Given the description of an element on the screen output the (x, y) to click on. 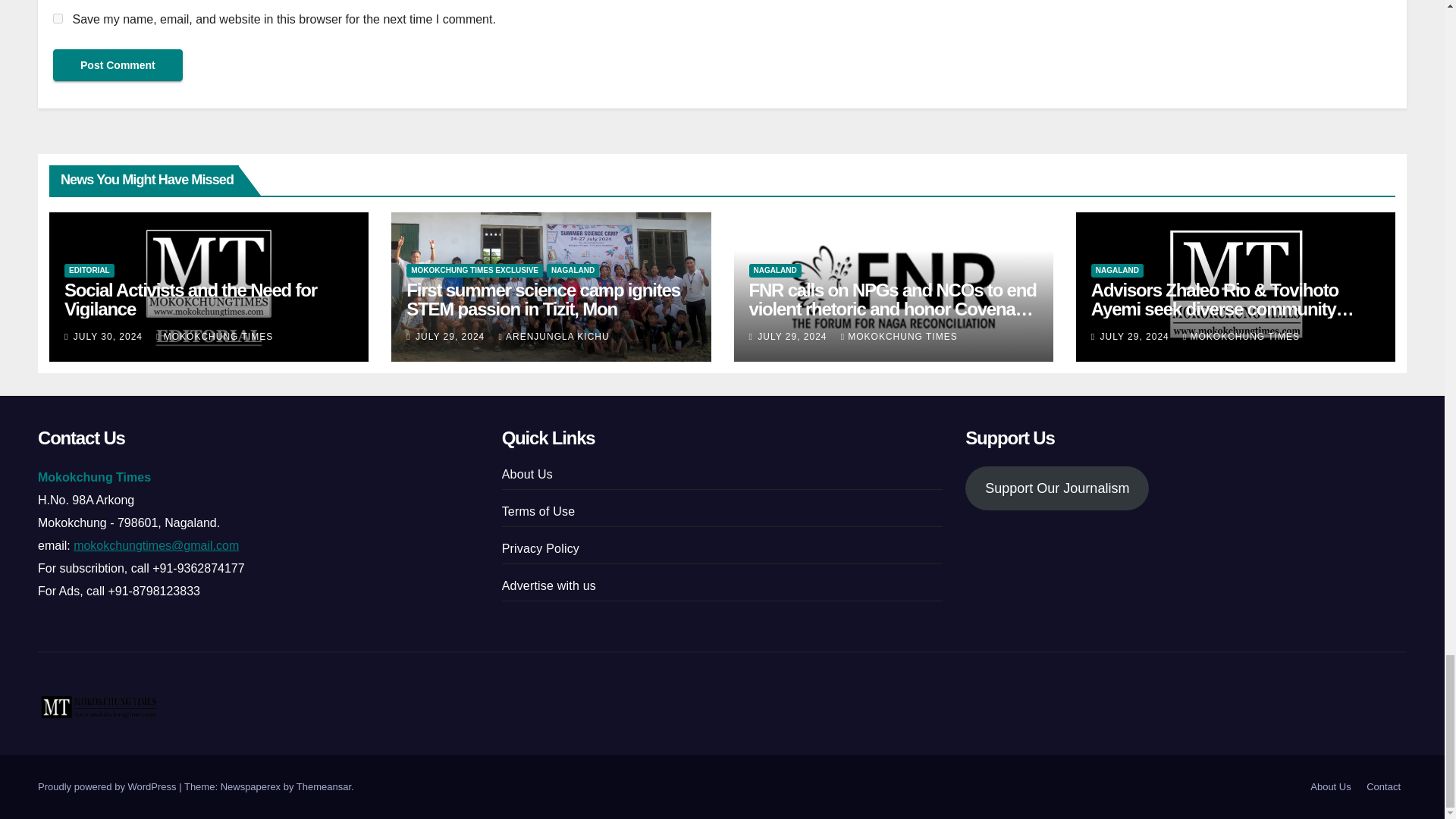
yes (57, 18)
Post Comment (117, 65)
